Given the description of an element on the screen output the (x, y) to click on. 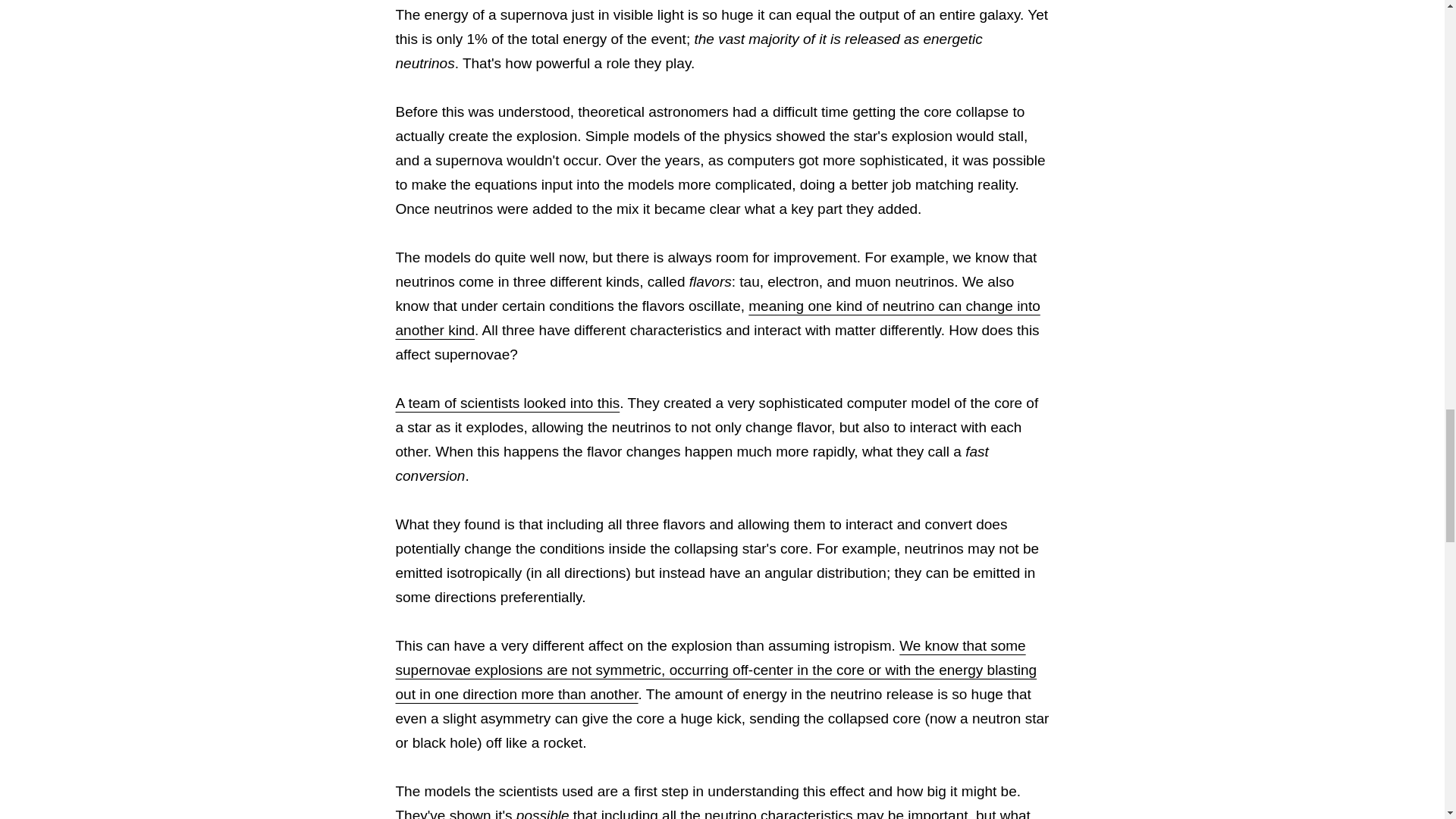
meaning one kind of neutrino can change into another kind (718, 318)
A team of scientists looked into this (508, 402)
